Given the description of an element on the screen output the (x, y) to click on. 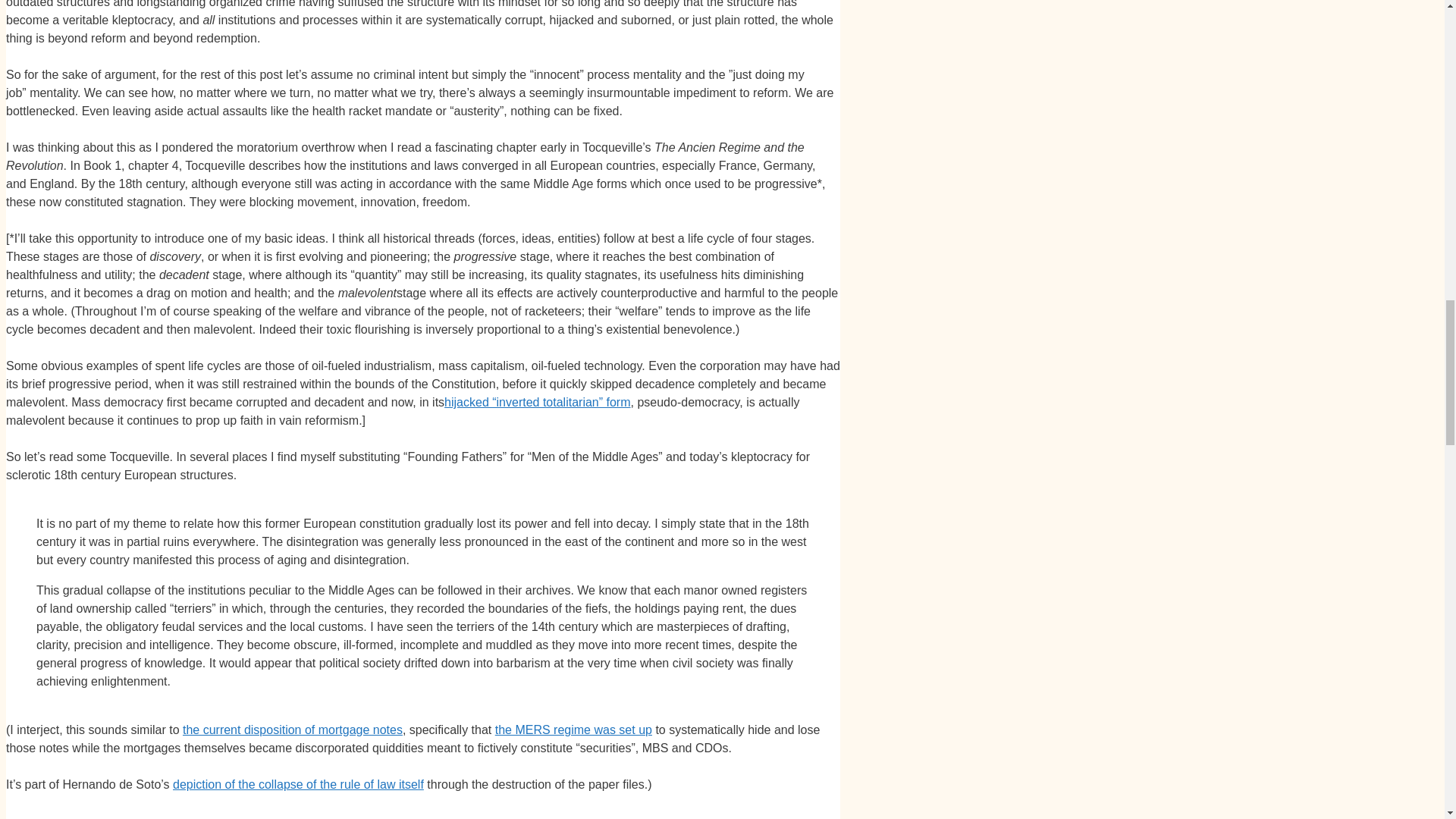
the current disposition of mortgage notes (293, 729)
depiction of the collapse of the rule of law itself (298, 784)
the MERS regime was set up (573, 729)
